Given the description of an element on the screen output the (x, y) to click on. 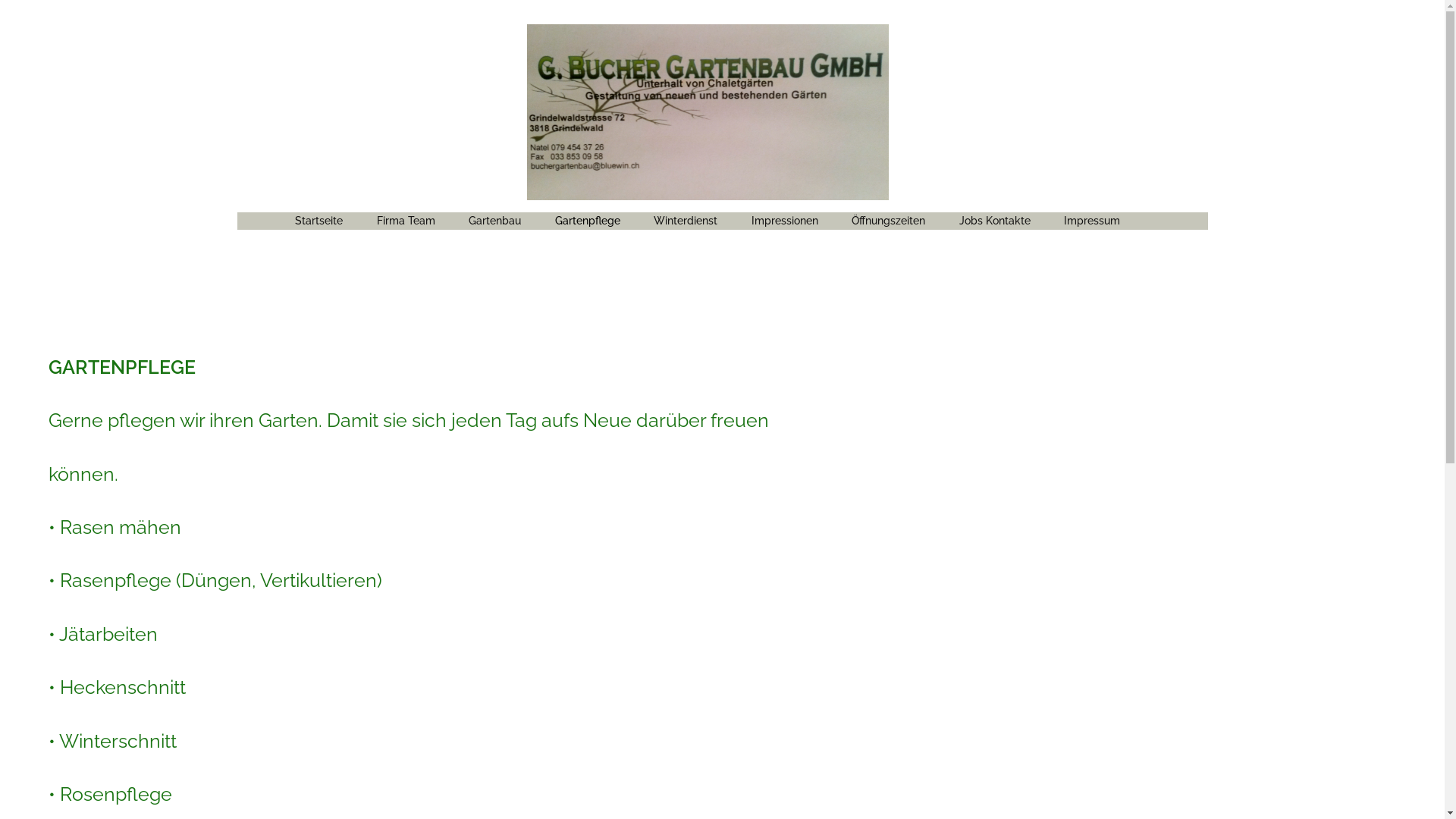
Jobs Kontakte Element type: text (994, 219)
Impressionen Element type: text (784, 219)
Gartenbau Element type: text (494, 219)
Gartenpflege Element type: text (587, 219)
Startseite Element type: text (318, 219)
Firma Team Element type: text (405, 219)
Impressum Element type: text (1091, 219)
Winterdienst Element type: text (685, 219)
